Given the description of an element on the screen output the (x, y) to click on. 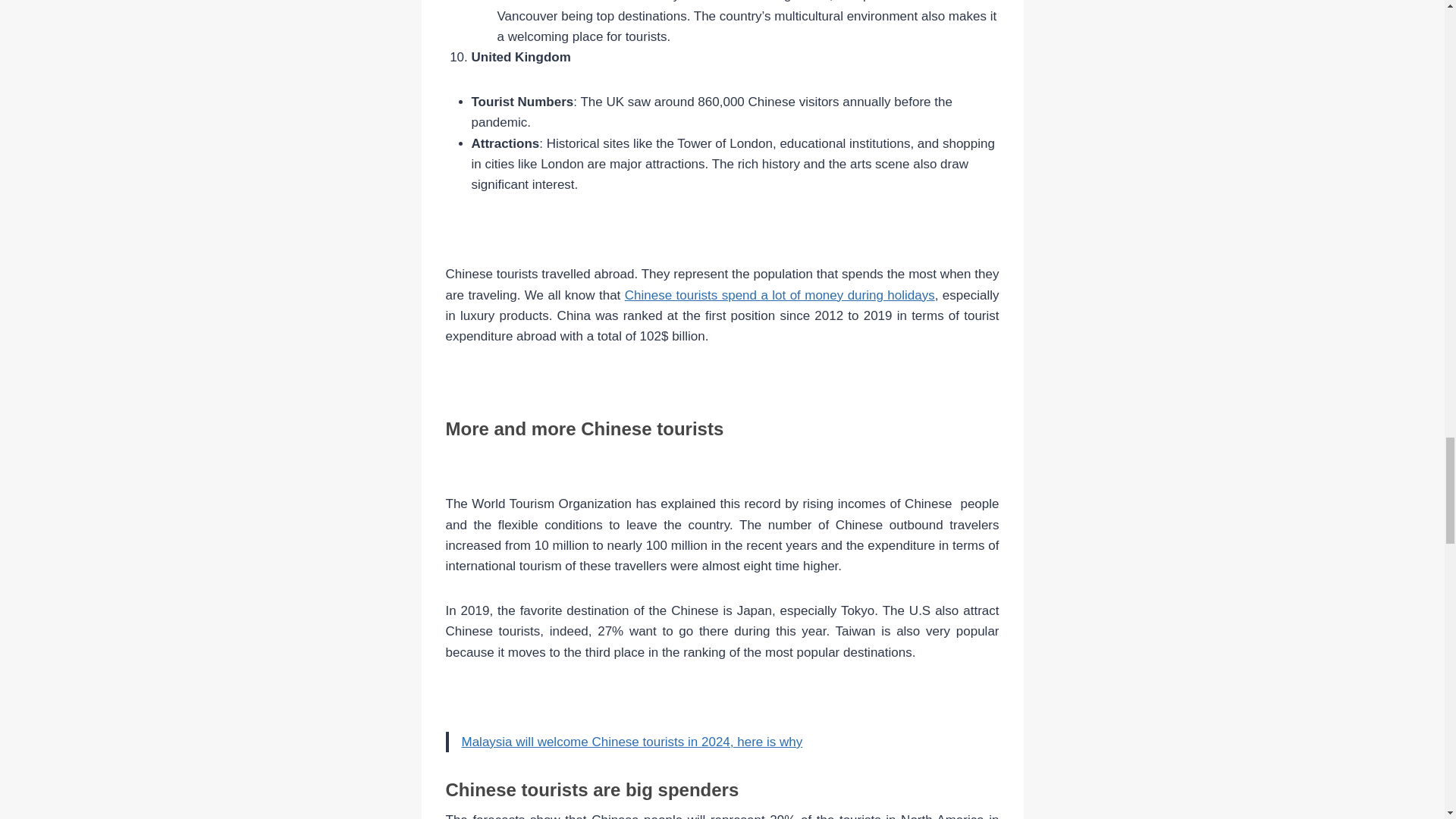
Malaysia will welcome Chinese tourists in 2024, here is why (631, 741)
Chinese tourists spend a lot of money during holidays (779, 295)
